Given the description of an element on the screen output the (x, y) to click on. 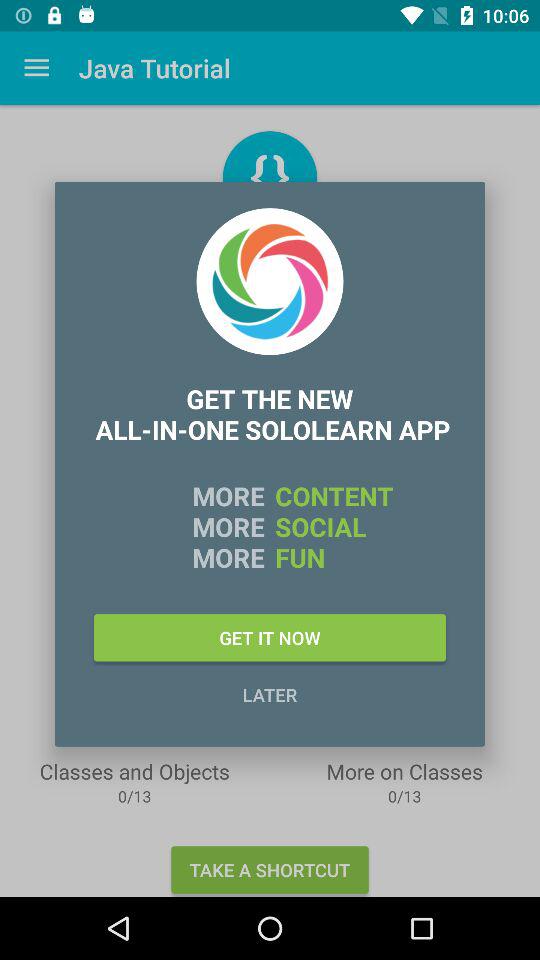
click the get it now (269, 637)
